Given the description of an element on the screen output the (x, y) to click on. 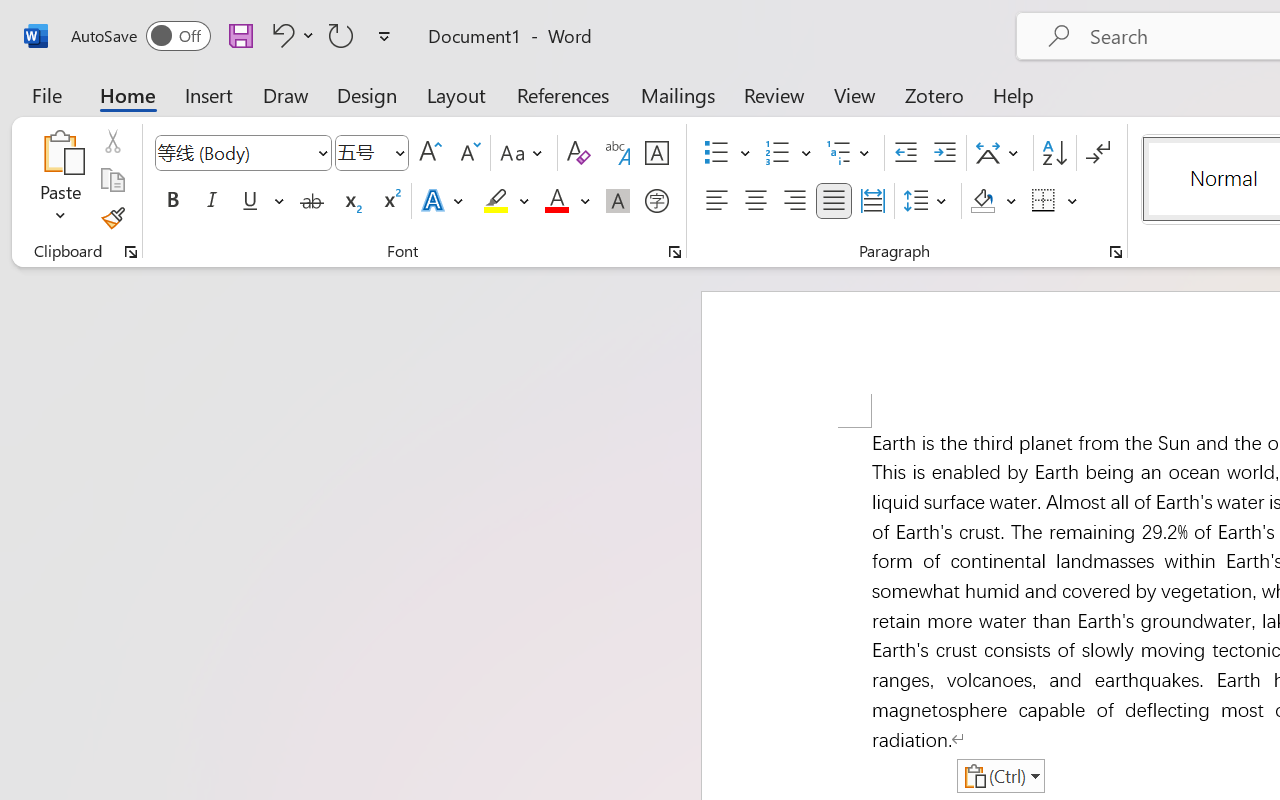
Format Painter (112, 218)
Sort... (1054, 153)
Justify (834, 201)
Text Effects and Typography (444, 201)
Shading (993, 201)
Repeat Paste Option (341, 35)
Character Border (656, 153)
